Given the description of an element on the screen output the (x, y) to click on. 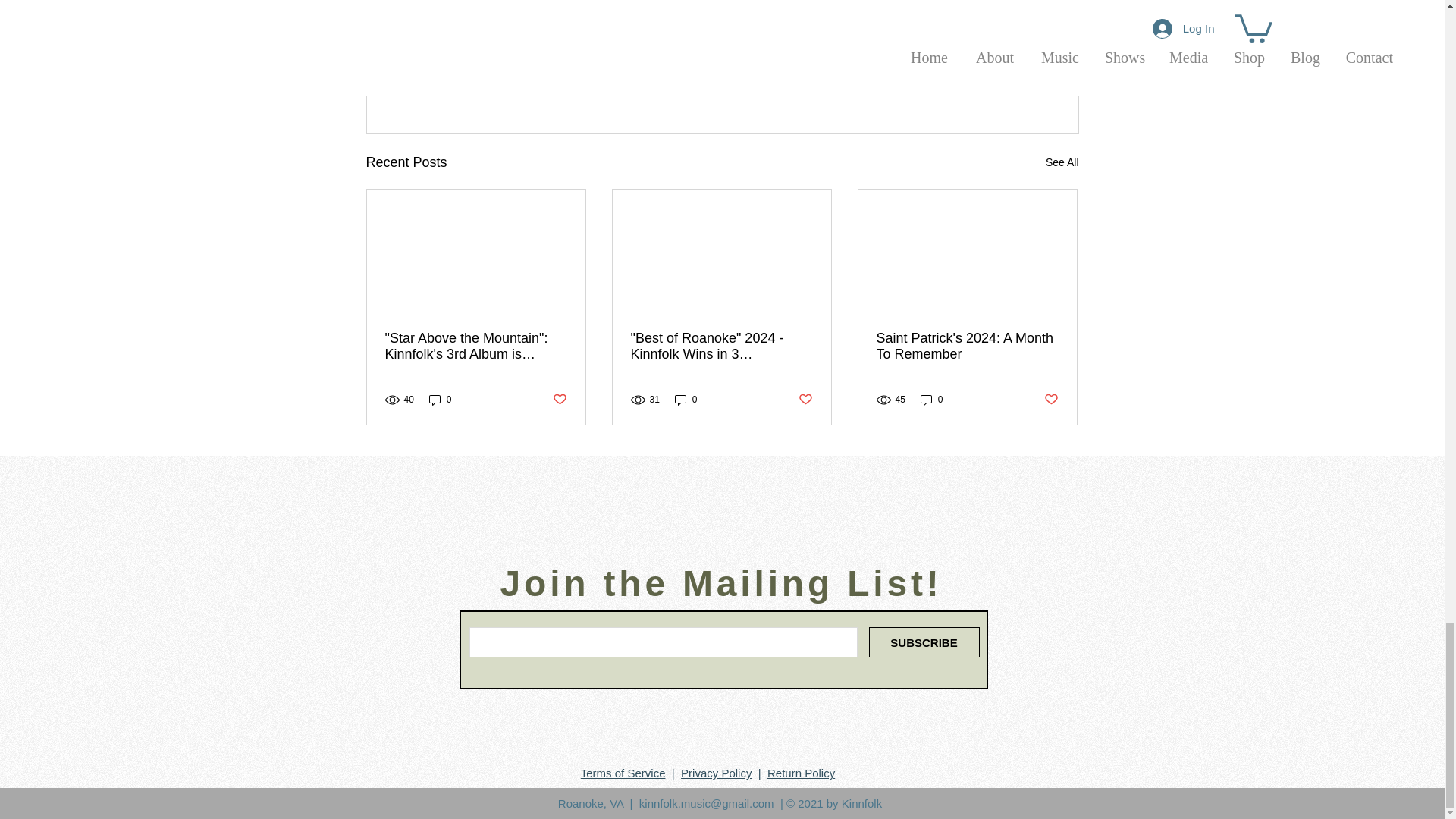
See All (1061, 162)
"Best of Roanoke" 2024 - Kinnfolk Wins in 3 Categories! (721, 346)
Post not marked as liked (995, 79)
0 (440, 400)
0 (685, 400)
Post not marked as liked (558, 399)
